Given the description of an element on the screen output the (x, y) to click on. 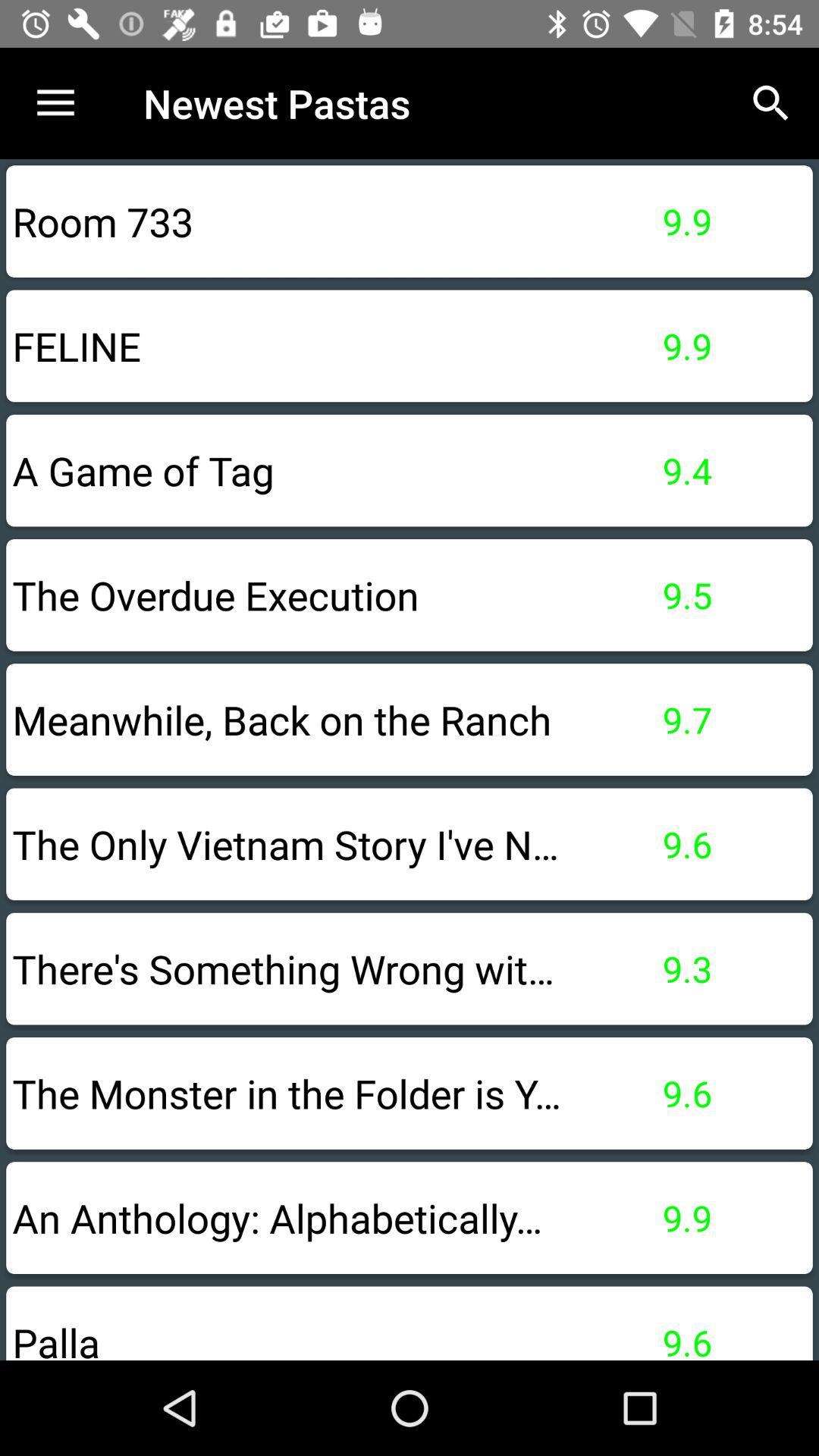
select the text which is immediately below meanwhile back on the ranch 97 (409, 844)
select search button which is on the top right corner of the page (771, 103)
select an anthology alphabetically option (409, 1217)
